Given the description of an element on the screen output the (x, y) to click on. 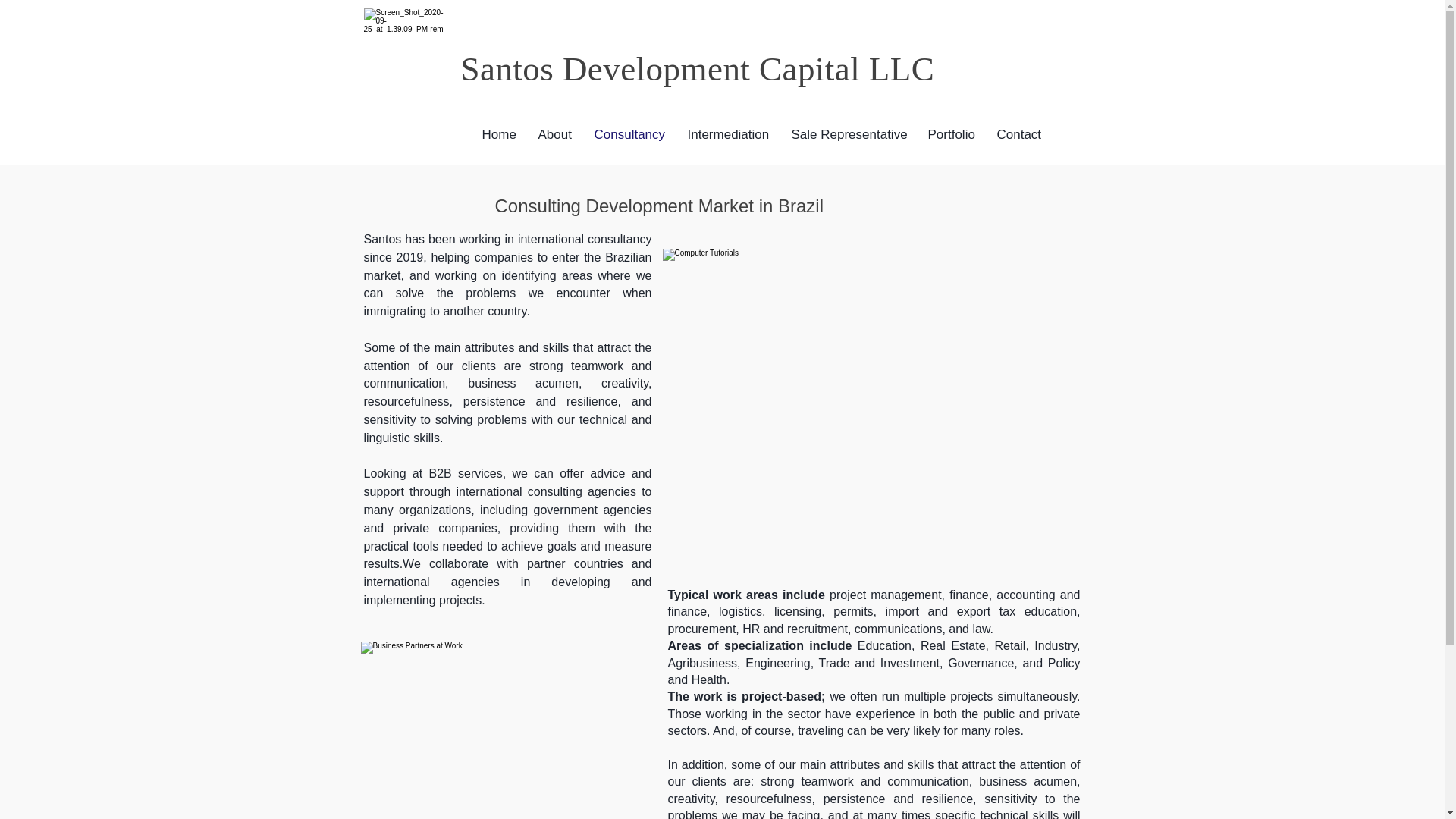
About (553, 134)
Home (497, 134)
Santos Development Capital LLC (697, 68)
Portfolio (950, 134)
Intermediation (728, 134)
Contact (1018, 134)
Sale Representative (846, 134)
Consultancy (628, 134)
